Given the description of an element on the screen output the (x, y) to click on. 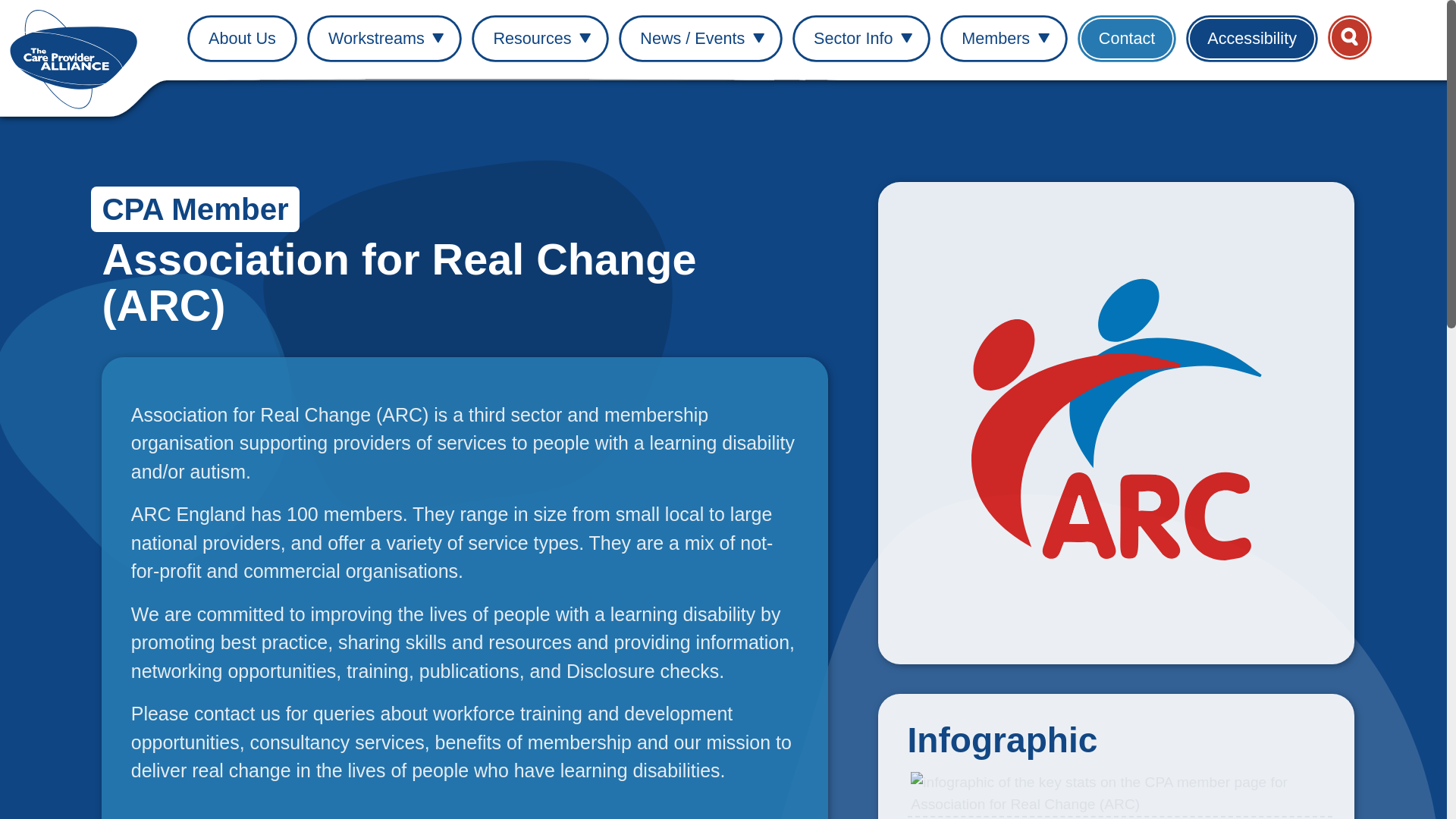
About Us (242, 38)
Contact (1126, 38)
Workstreams (384, 38)
Resources (540, 38)
Home (76, 58)
Members (1003, 38)
Sector Info (861, 38)
